Given the description of an element on the screen output the (x, y) to click on. 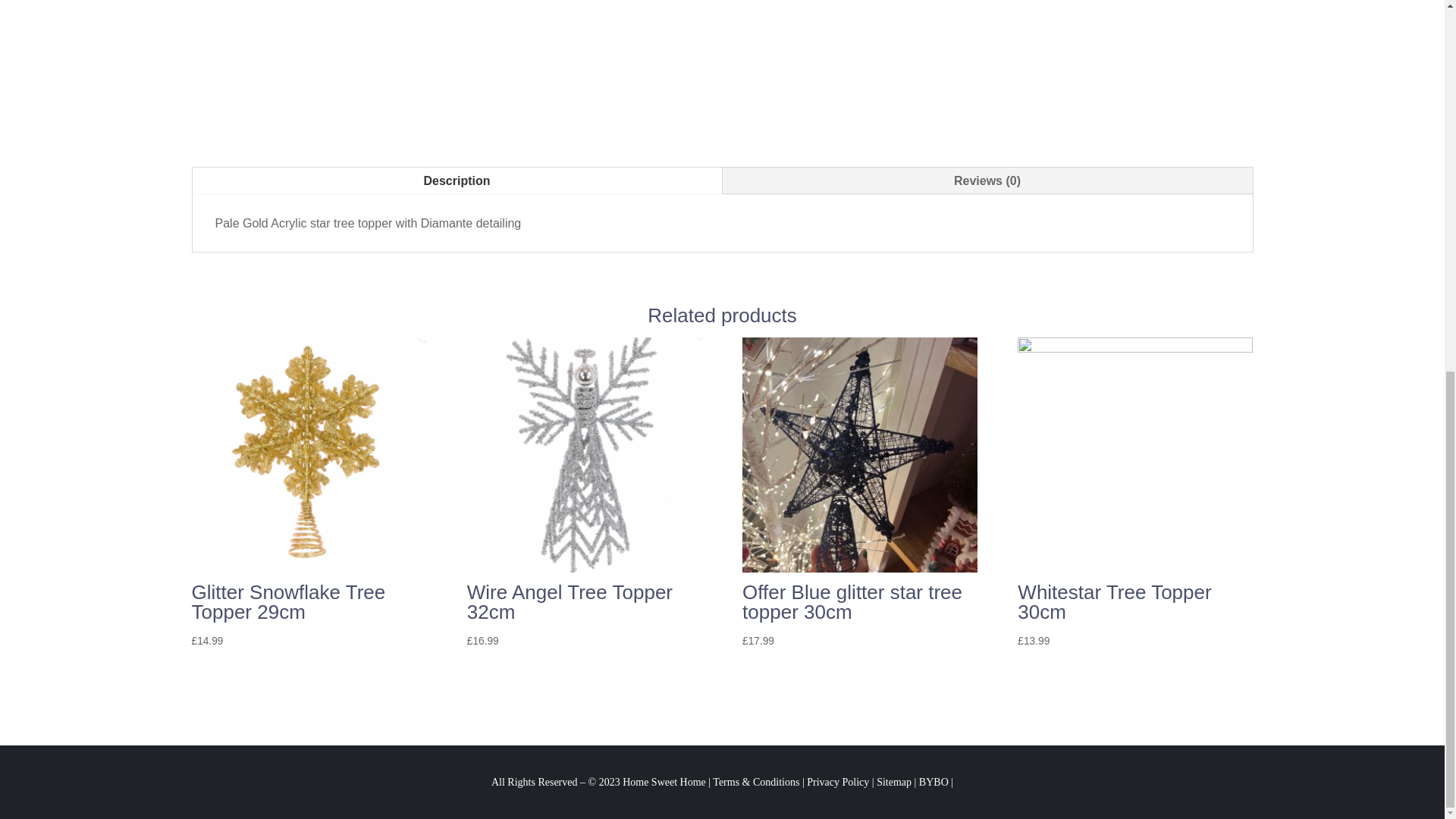
Description (457, 180)
Sitemap (893, 781)
Privacy Policy (837, 781)
